Given the description of an element on the screen output the (x, y) to click on. 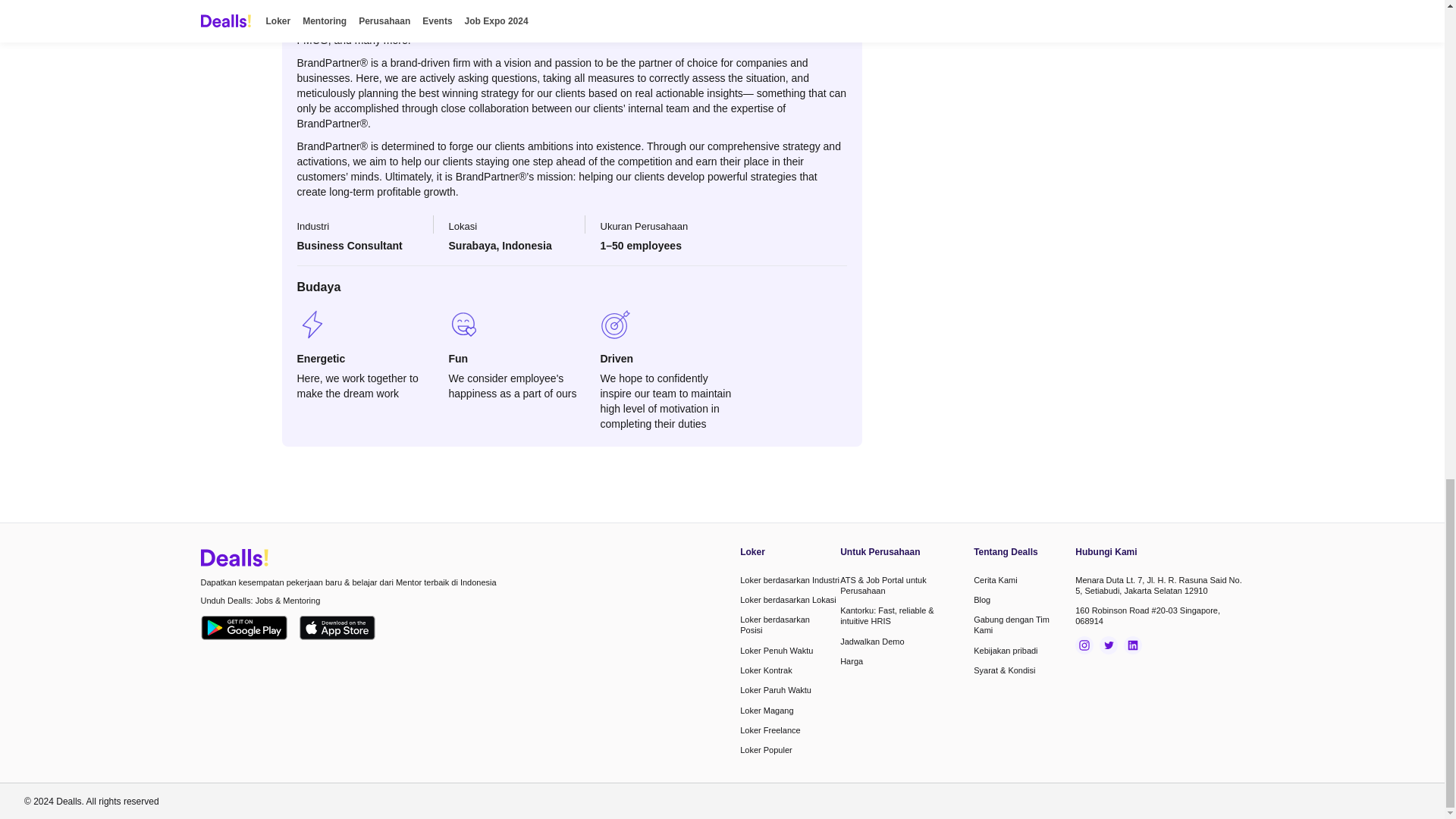
Blog (774, 625)
Loker berdasarkan Lokasi (982, 599)
Loker Freelance (787, 599)
Loker Paruh Waktu (769, 729)
Loker berdasarkan Industri (774, 689)
Harga (789, 579)
Loker Kontrak (851, 661)
Loker Magang (765, 670)
Loker Penuh Waktu (766, 710)
